Given the description of an element on the screen output the (x, y) to click on. 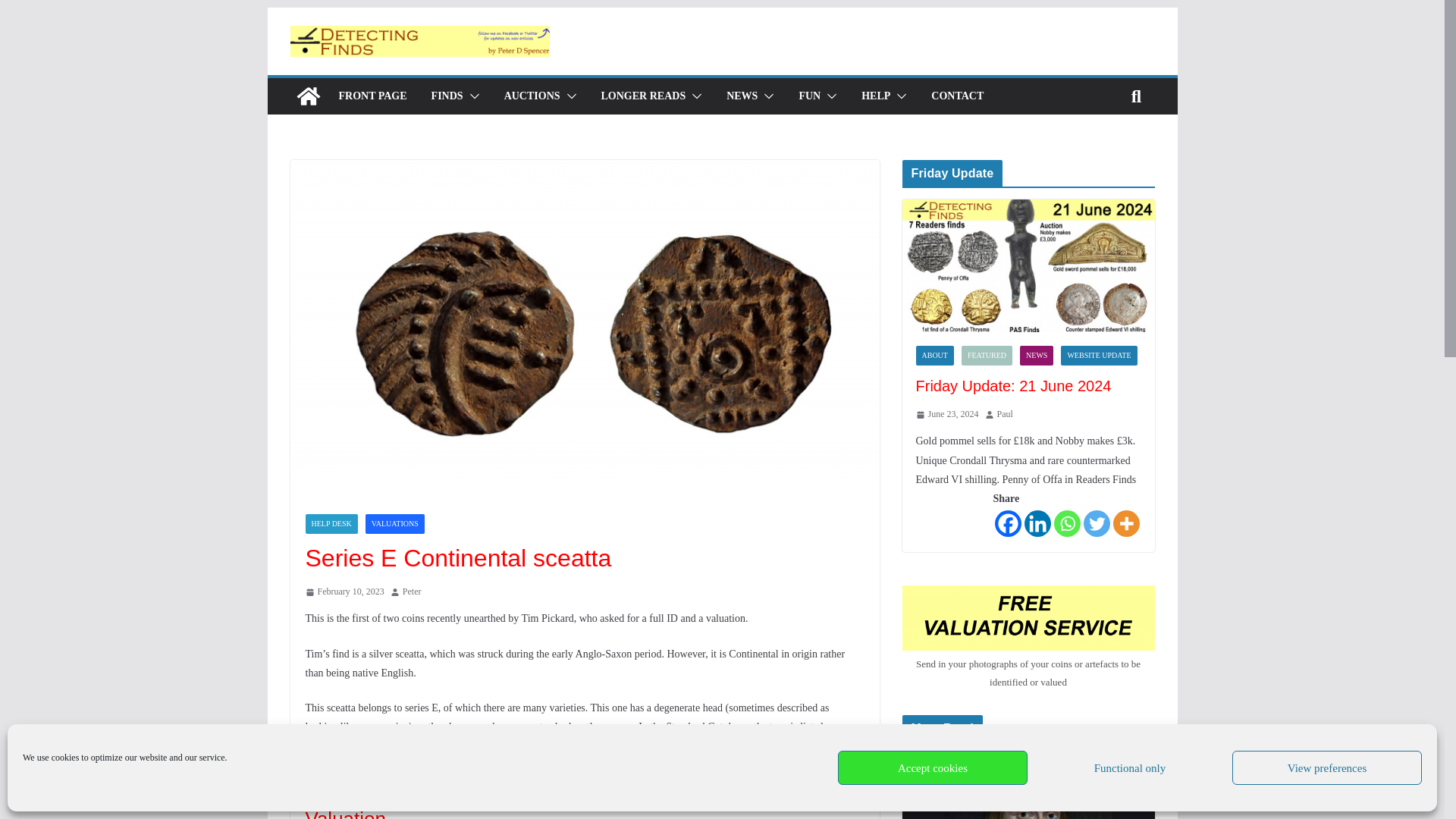
FRONT PAGE (371, 96)
HELP (875, 96)
View preferences (1326, 767)
Peter (412, 591)
LONGER READS (643, 96)
FUN (809, 96)
FINDS (446, 96)
5:32 pm (344, 591)
NEWS (741, 96)
CONTACT (957, 96)
